Given the description of an element on the screen output the (x, y) to click on. 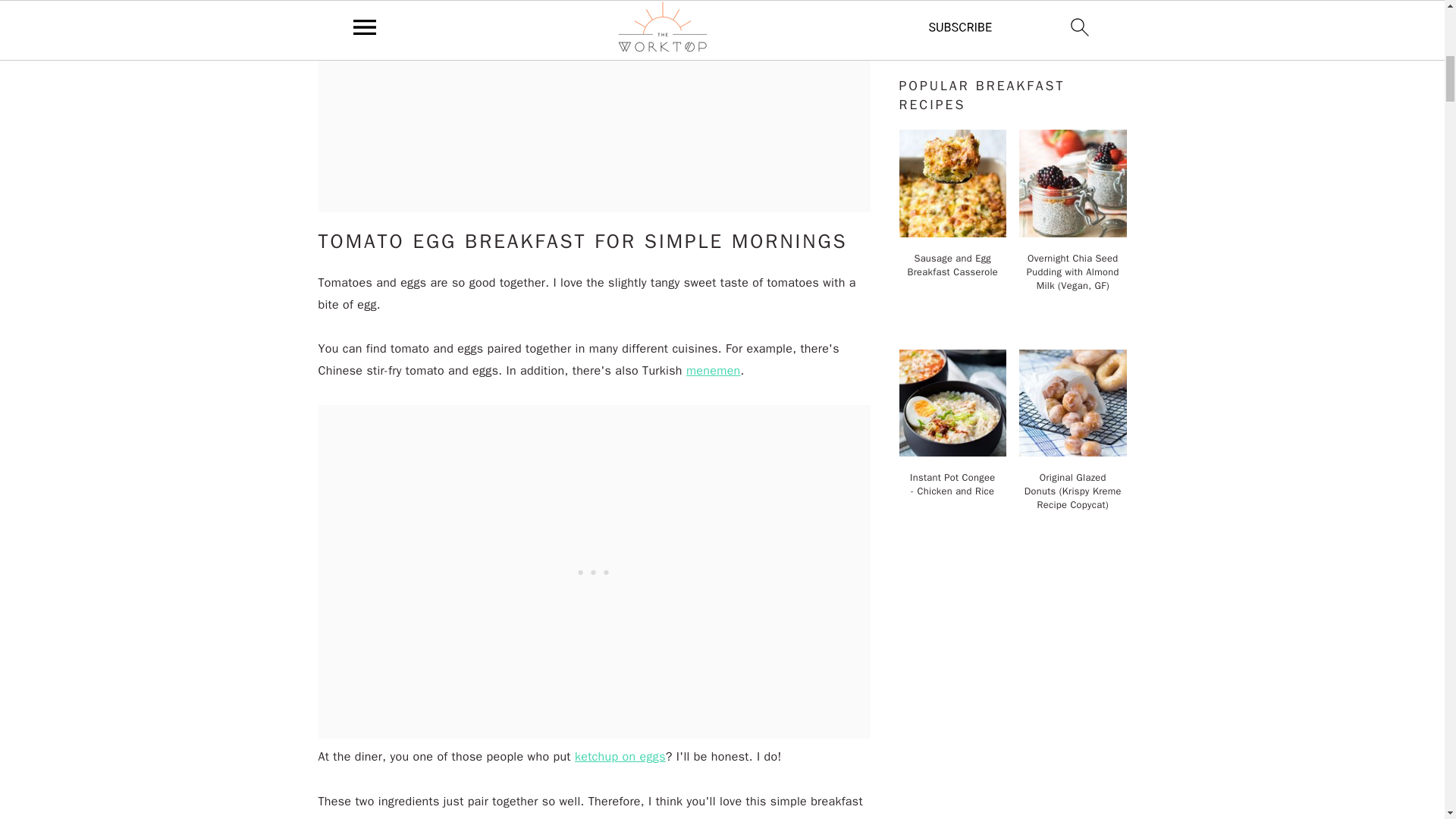
ketchup on eggs (620, 756)
menemen (713, 370)
